Given the description of an element on the screen output the (x, y) to click on. 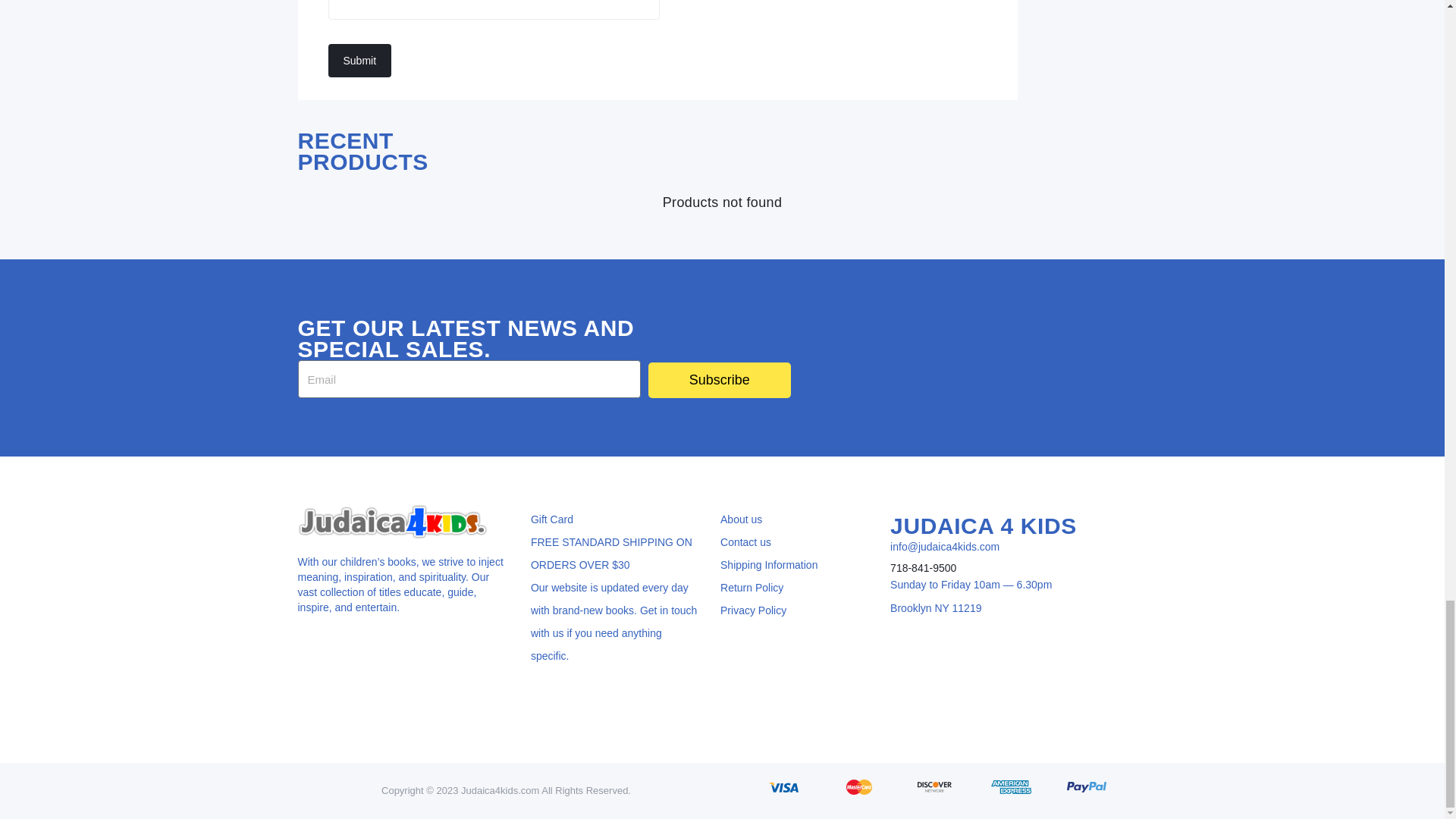
Submit (359, 60)
